Given the description of an element on the screen output the (x, y) to click on. 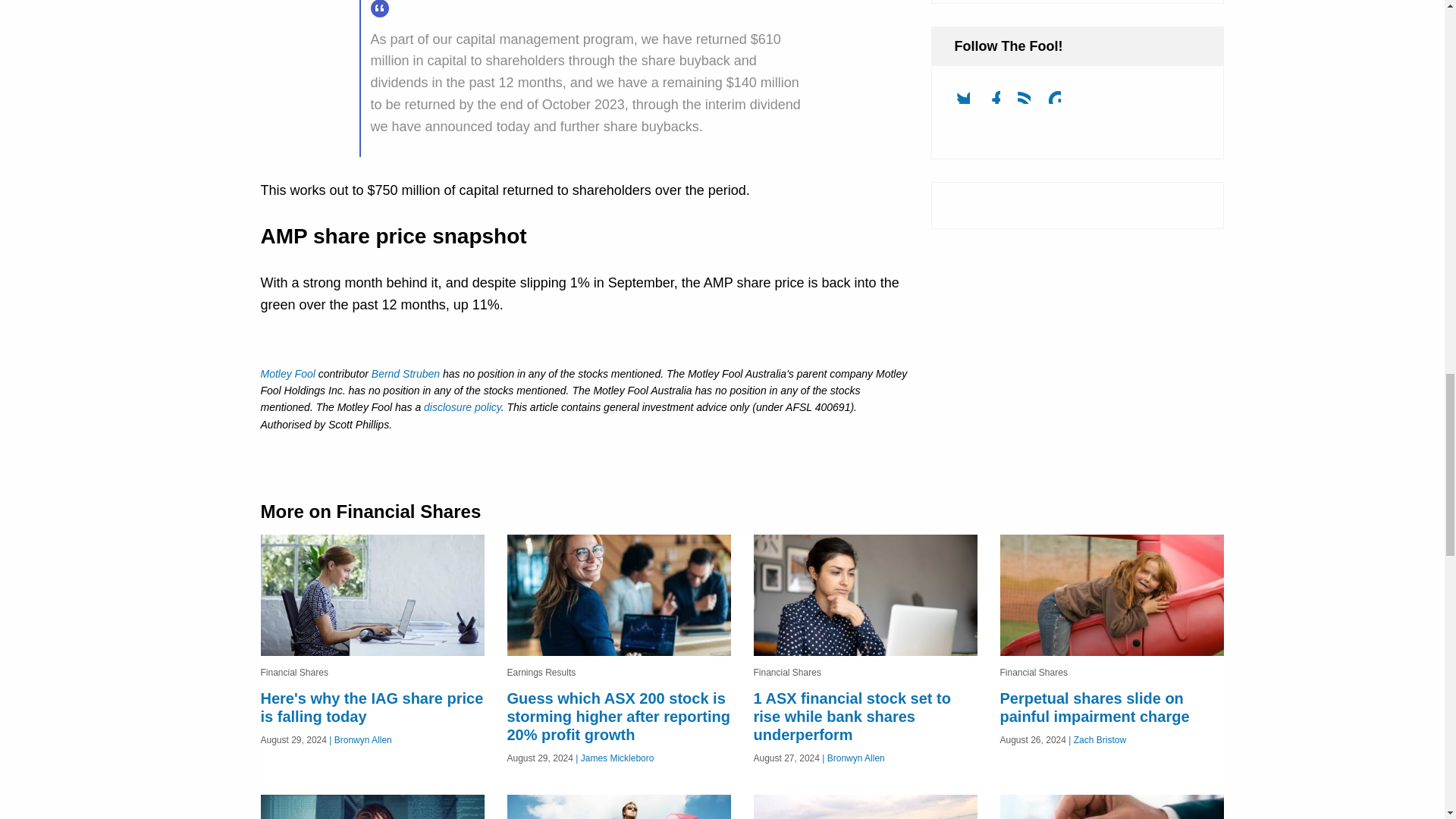
The Motley Fool on Facebook (999, 102)
The Motley Fool on Twitter (968, 102)
The Motley Fool Google News Feed (1060, 102)
The Motley Fool RSS Feed (1029, 102)
